Given the description of an element on the screen output the (x, y) to click on. 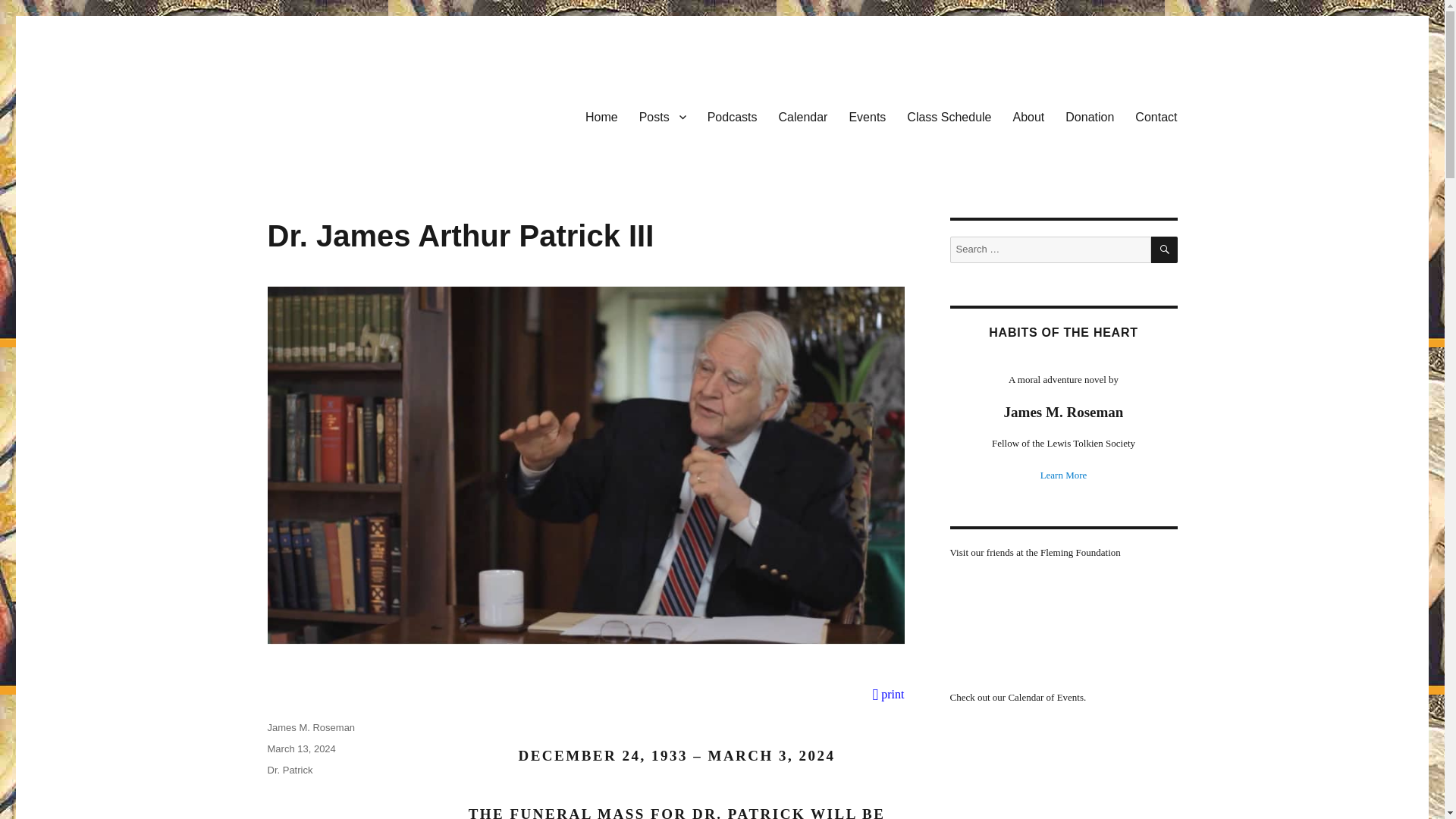
HABITS OF THE HEART (1062, 332)
Podcasts (732, 116)
March 13, 2024 (300, 748)
Dr. Patrick (289, 769)
Events (867, 116)
Donation (1089, 116)
Class Schedule (948, 116)
SEARCH (1164, 249)
James M. Roseman (310, 727)
Calendar (802, 116)
